Given the description of an element on the screen output the (x, y) to click on. 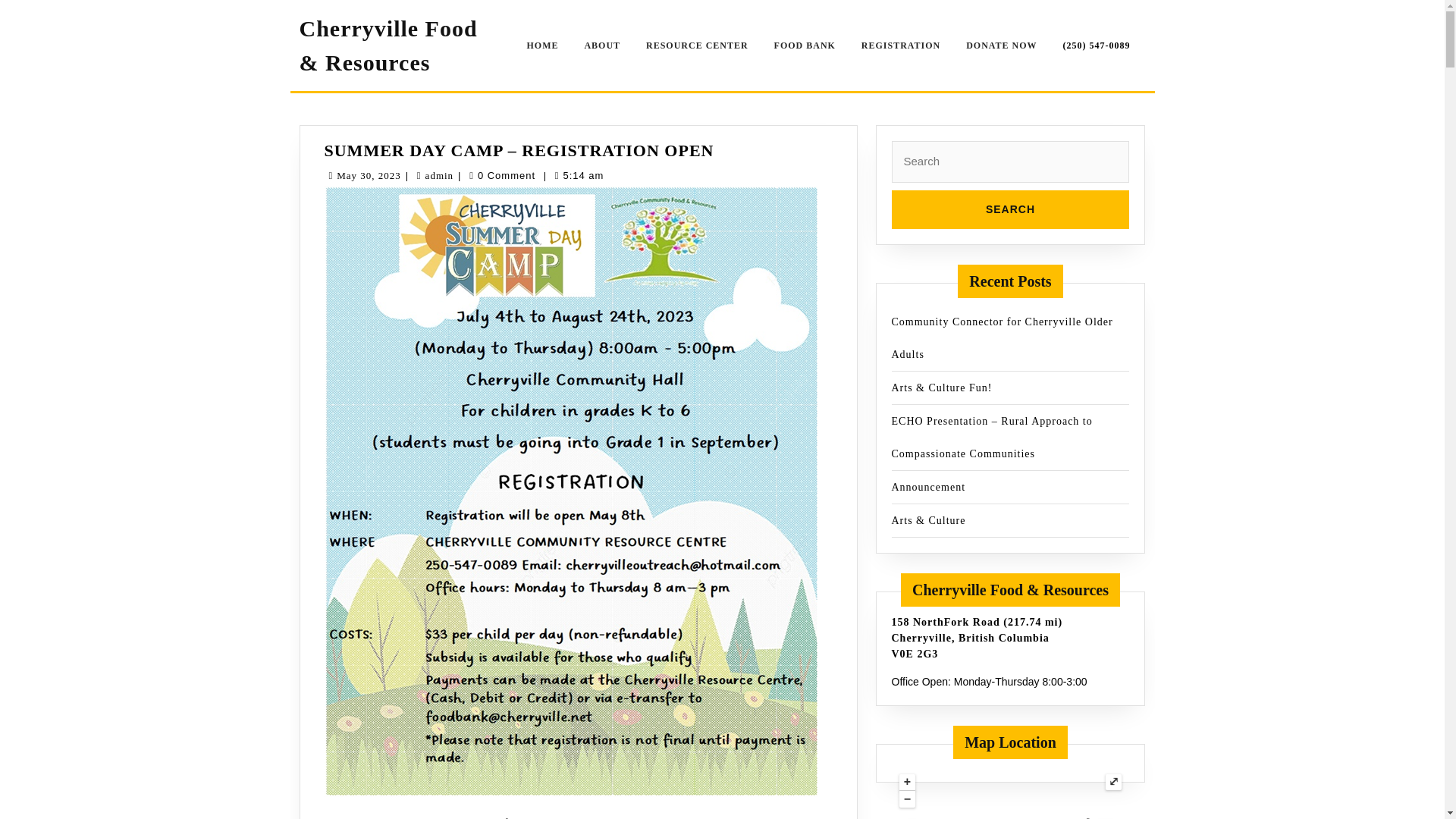
RESOURCE CENTER (578, 378)
ABOUT (697, 45)
FOOD BANK (586, 483)
HOME (570, 374)
